Given the description of an element on the screen output the (x, y) to click on. 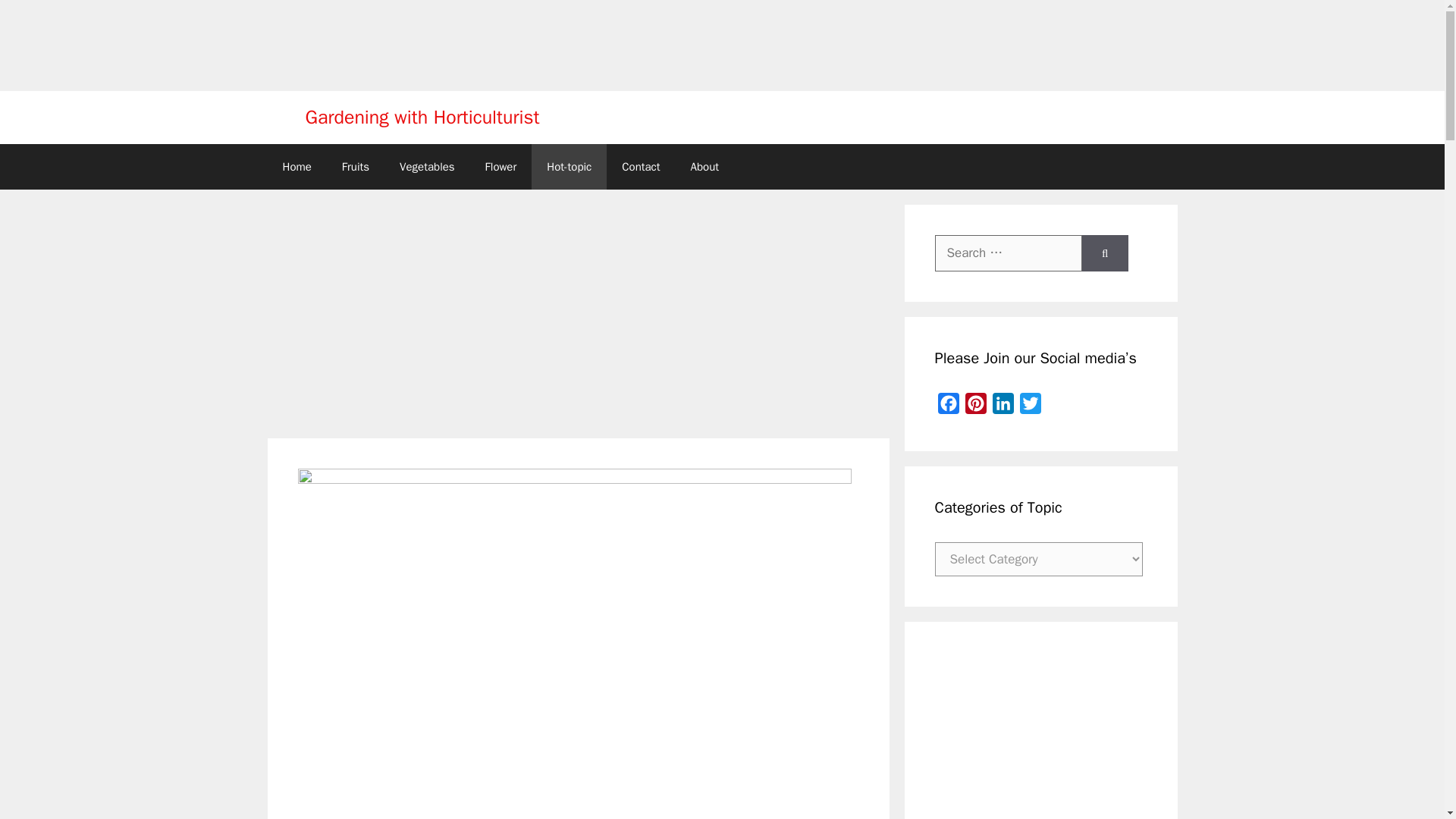
Search for: (1007, 253)
Facebook (947, 406)
Advertisement (1029, 735)
Home (296, 166)
Pinterest (974, 406)
Facebook (947, 406)
Gardening with Horticulturist (421, 116)
Vegetables (427, 166)
Pinterest (974, 406)
Flower (501, 166)
Hot-topic (569, 166)
Fruits (355, 166)
LinkedIn (1002, 406)
Contact (641, 166)
Twitter (1029, 406)
